Given the description of an element on the screen output the (x, y) to click on. 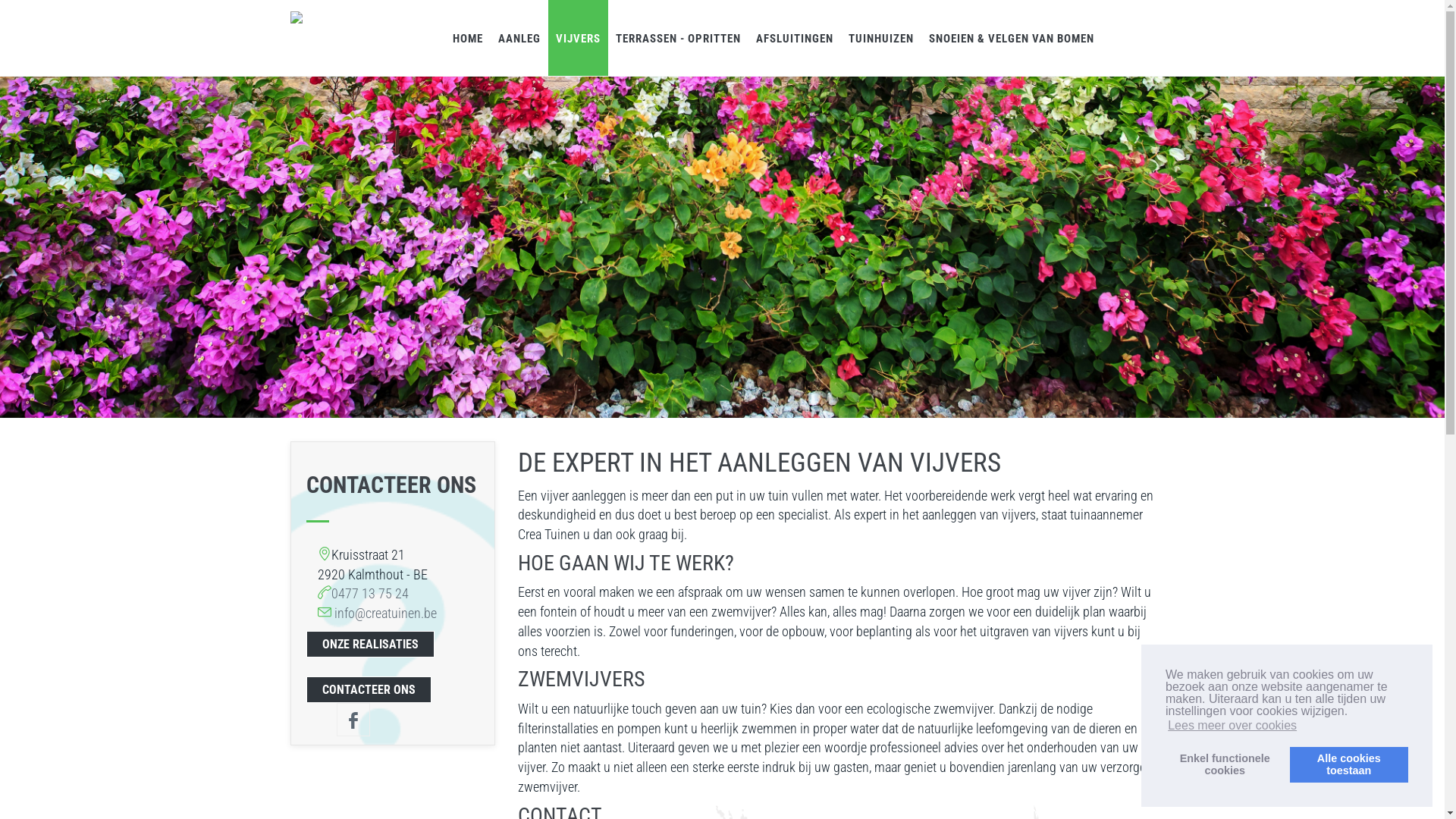
Alle cookies
toestaan Element type: text (1348, 764)
AANLEG Element type: text (518, 37)
HOME Element type: text (466, 37)
Enkel functionele
cookies Element type: text (1224, 764)
SNOEIEN & VELGEN VAN BOMEN Element type: text (1010, 37)
VIJVERS Element type: text (577, 37)
TERRASSEN - OPRITTEN Element type: text (678, 37)
CONTACTEER ONS Element type: text (368, 689)
0477 13 75 24 Element type: text (368, 593)
TUINHUIZEN Element type: text (880, 37)
AFSLUITINGEN Element type: text (793, 37)
Lees meer over cookies Element type: text (1232, 725)
info@creatuinen.be Element type: text (384, 613)
ONZE REALISATIES Element type: text (370, 643)
